Given the description of an element on the screen output the (x, y) to click on. 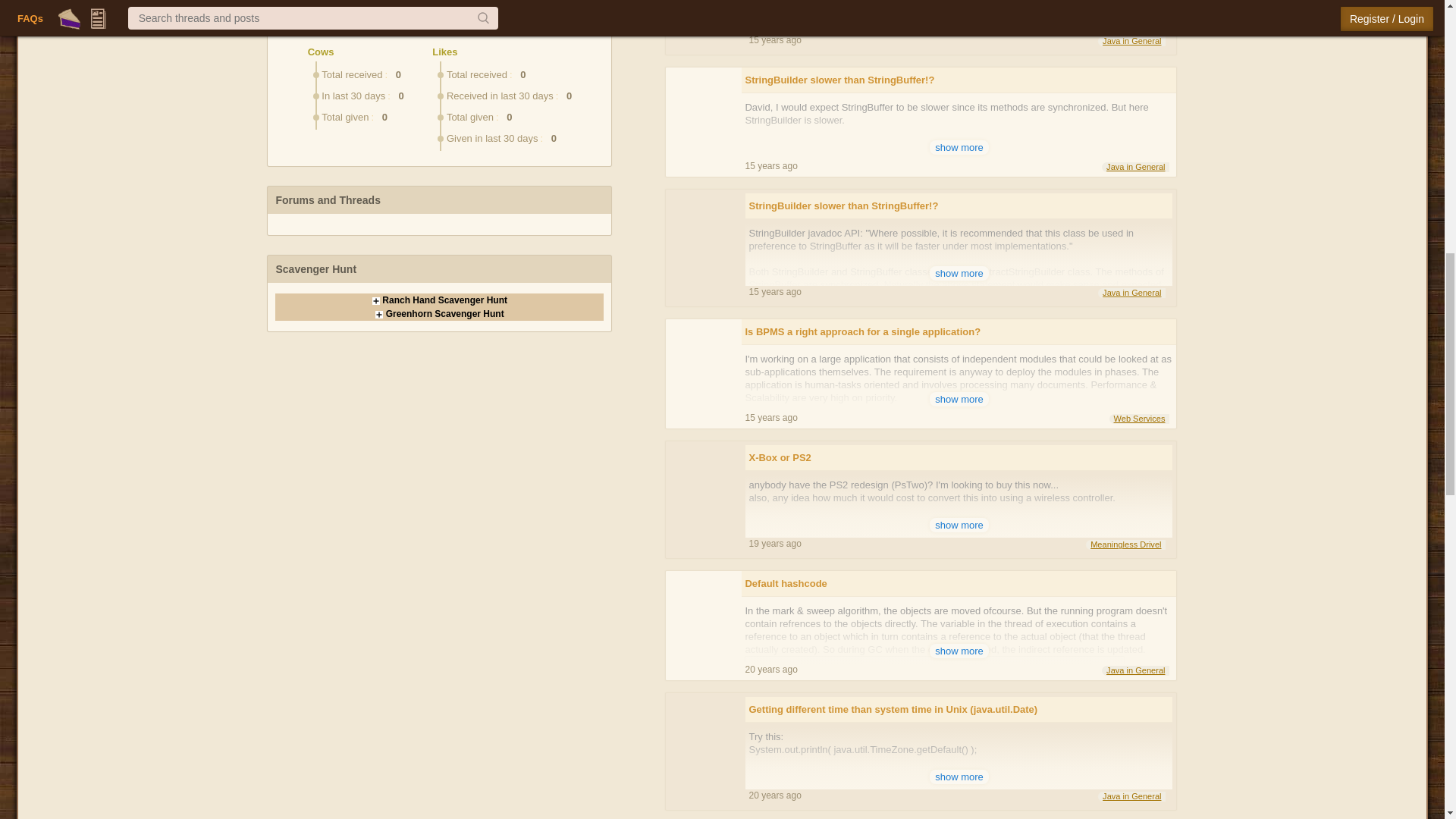
StringBuilder slower than StringBuffer!? (958, 79)
Java in General (1135, 166)
Java in General (1131, 40)
show more (959, 21)
show more (959, 273)
show more (959, 147)
StringBuilder slower than StringBuffer!? (958, 205)
Java in General (1131, 293)
